Given the description of an element on the screen output the (x, y) to click on. 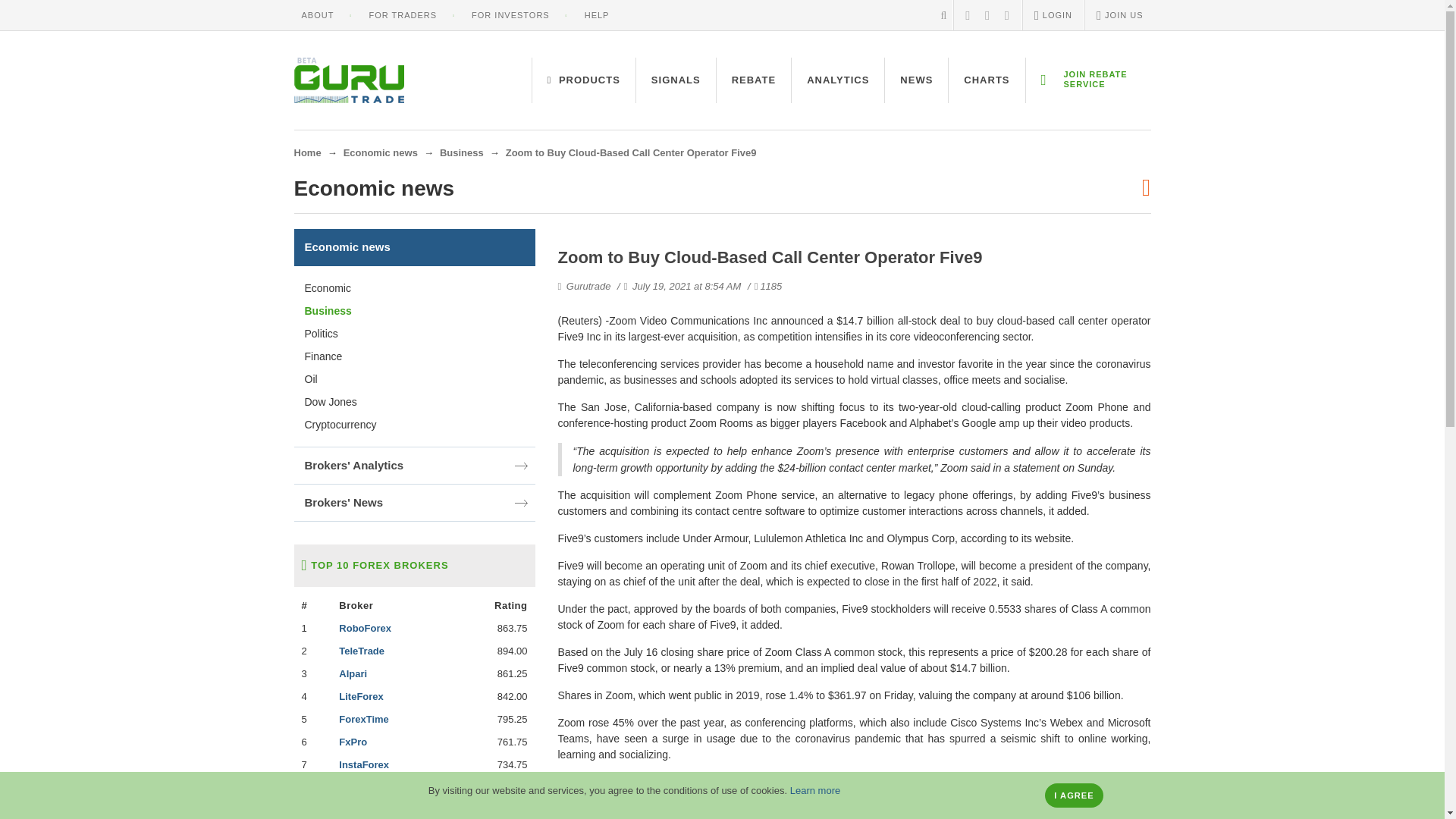
ABOUT (317, 15)
CHARTS (987, 80)
FOR INVESTORS (510, 15)
JOIN REBATE SERVICE (1087, 80)
JOIN US (1119, 15)
Business (461, 152)
Economic news (380, 152)
NEWS (916, 80)
LOGIN (1052, 15)
FOR TRADERS (402, 15)
